Given the description of an element on the screen output the (x, y) to click on. 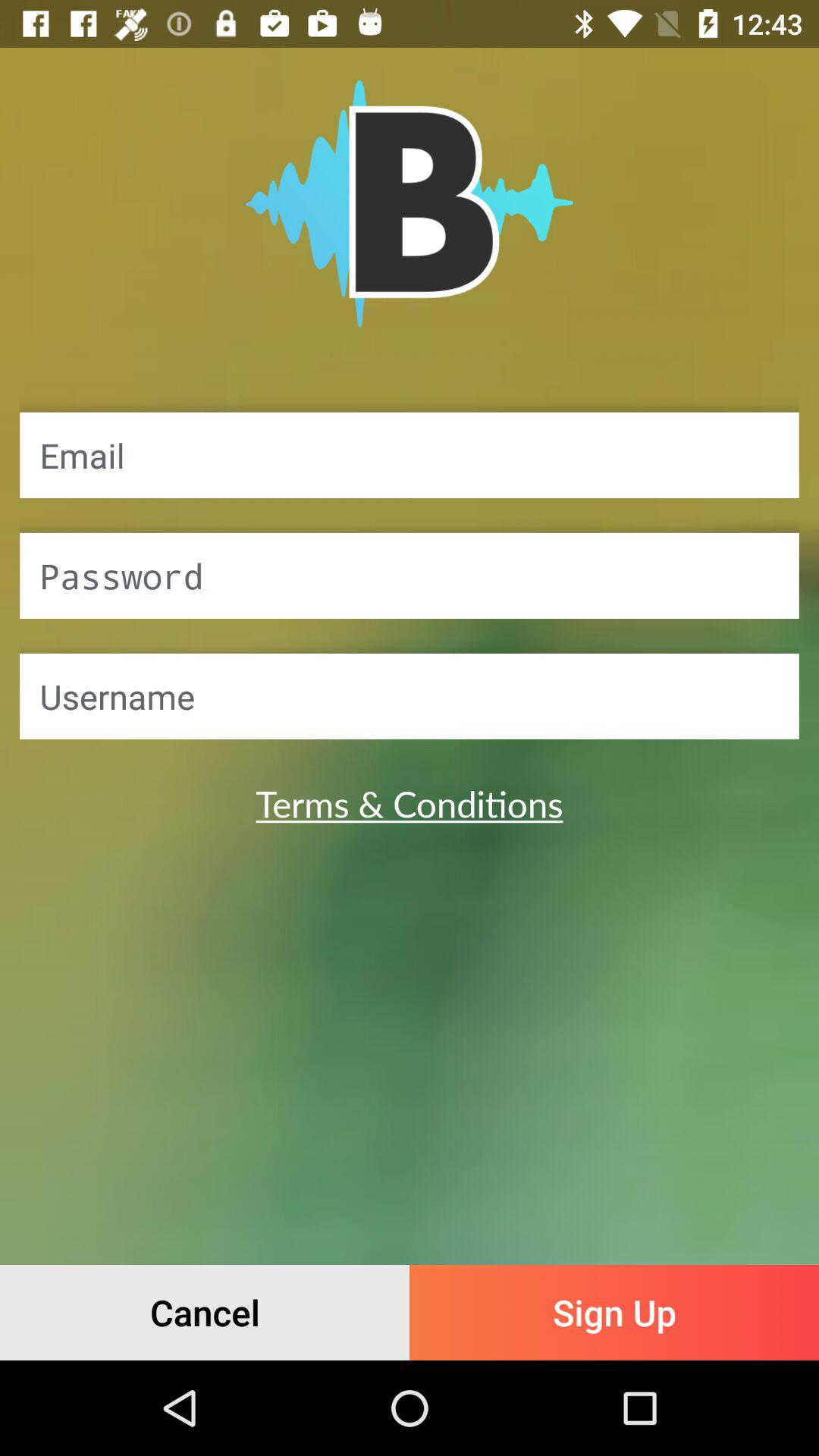
tap item above the terms & conditions icon (409, 696)
